Given the description of an element on the screen output the (x, y) to click on. 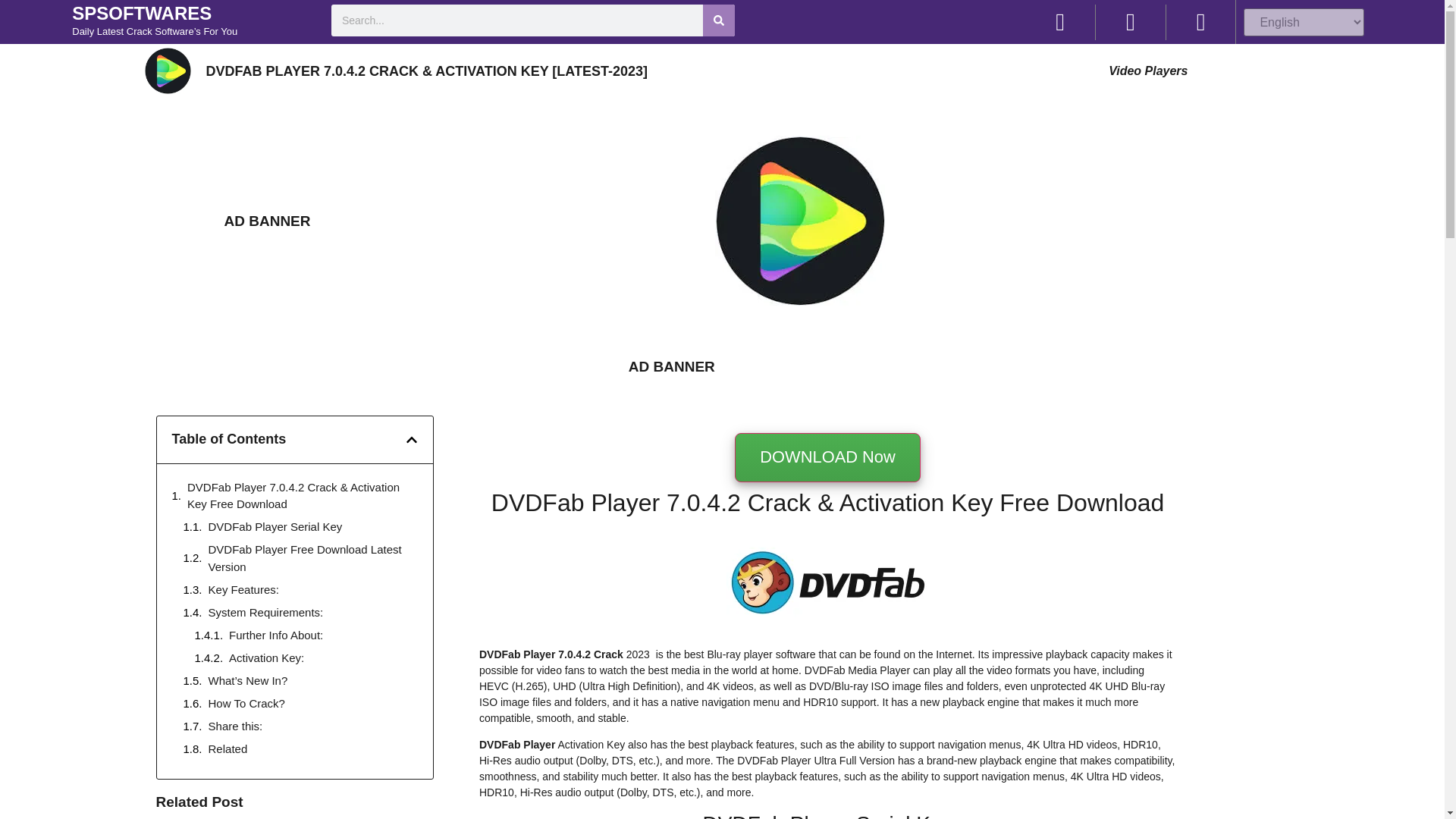
SPSOFTWARES (141, 13)
